Given the description of an element on the screen output the (x, y) to click on. 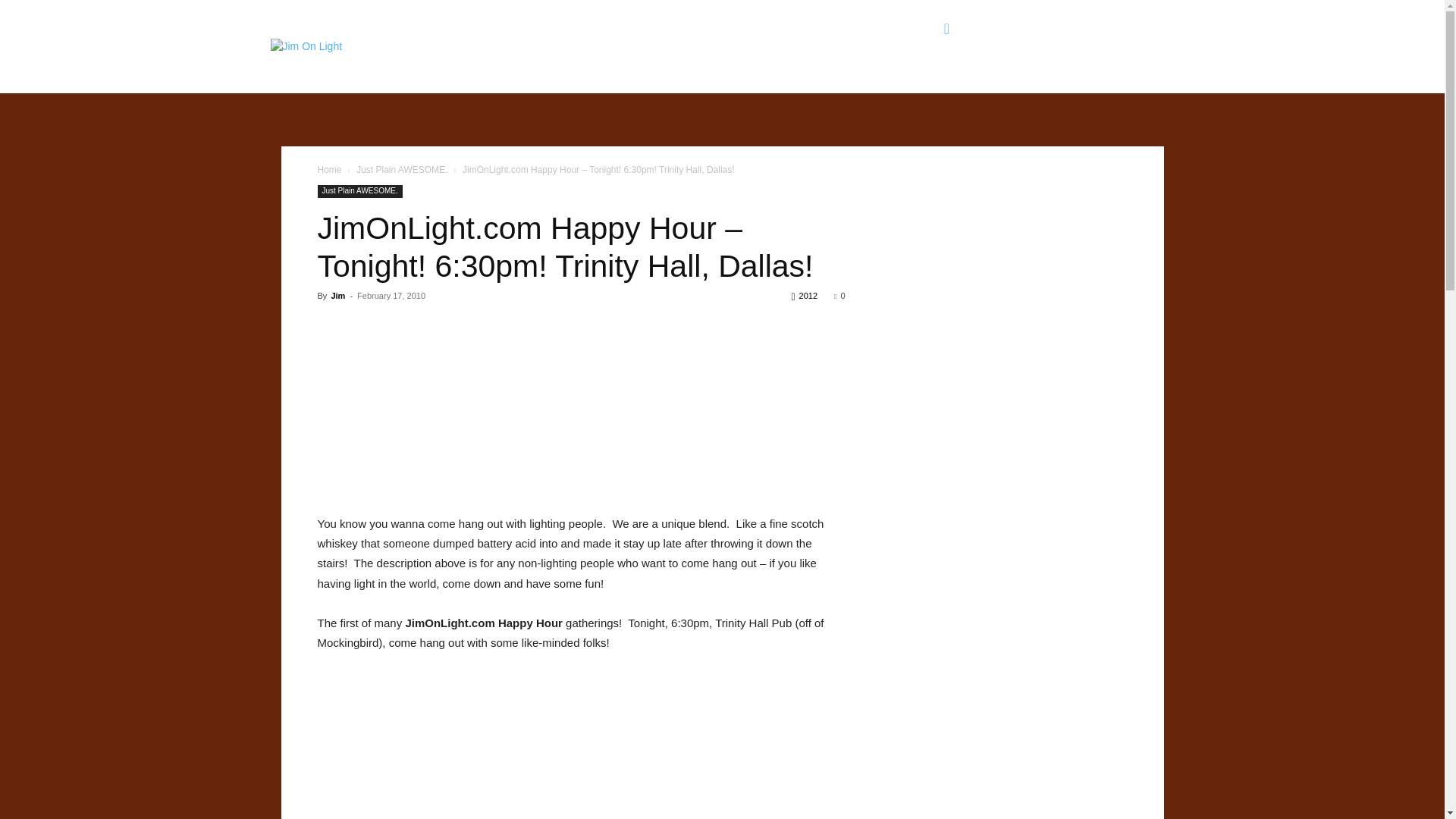
Just Plain AWESOME. (359, 191)
Just Plain AWESOME. (401, 169)
Jim (337, 295)
Home (328, 169)
0 (839, 295)
View all posts in Just Plain AWESOME. (401, 169)
